Given the description of an element on the screen output the (x, y) to click on. 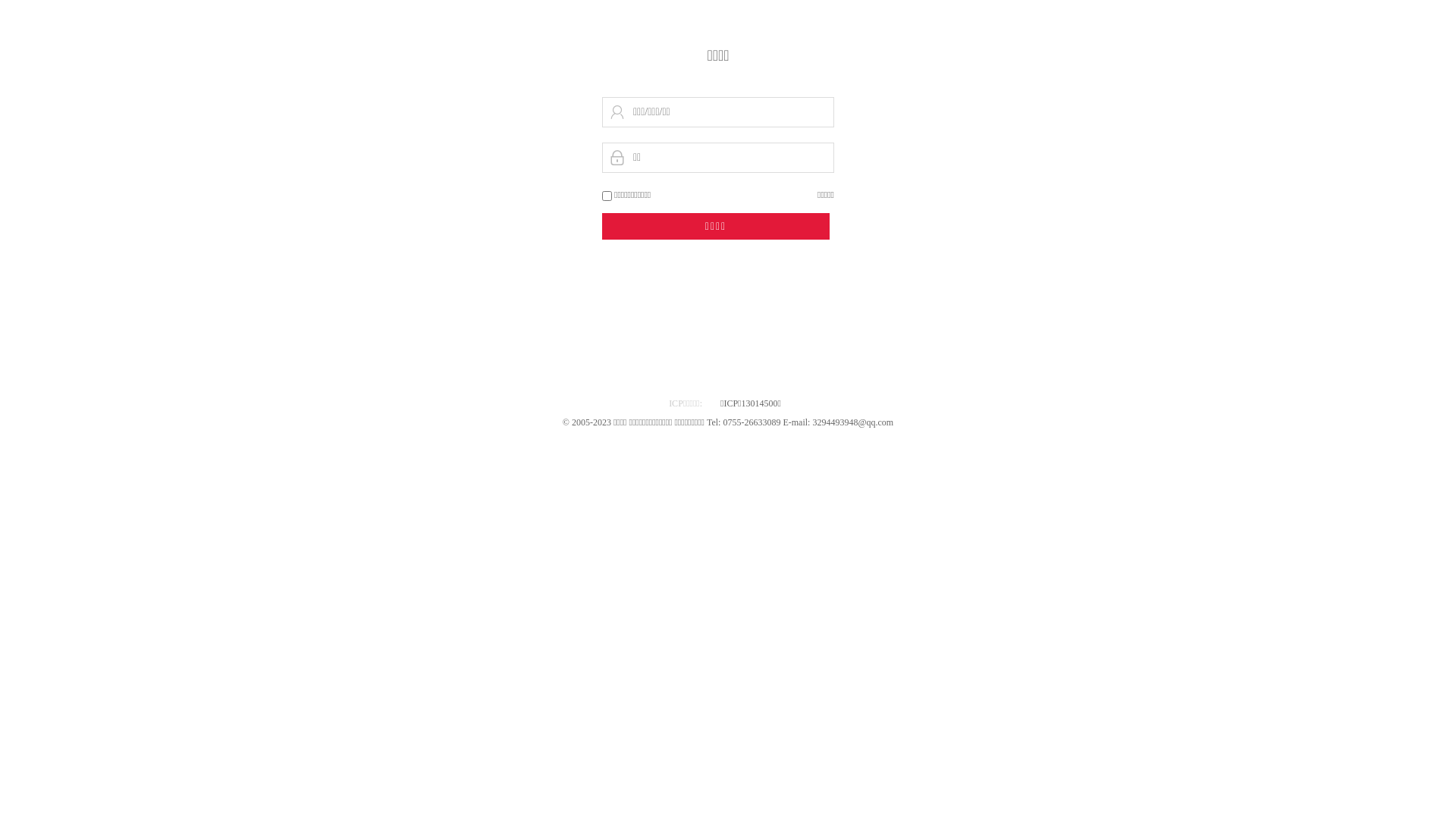
Tel: 0755-26633089 Element type: text (744, 422)
E-mail: 3294493948@qq.com Element type: text (837, 422)
